Given the description of an element on the screen output the (x, y) to click on. 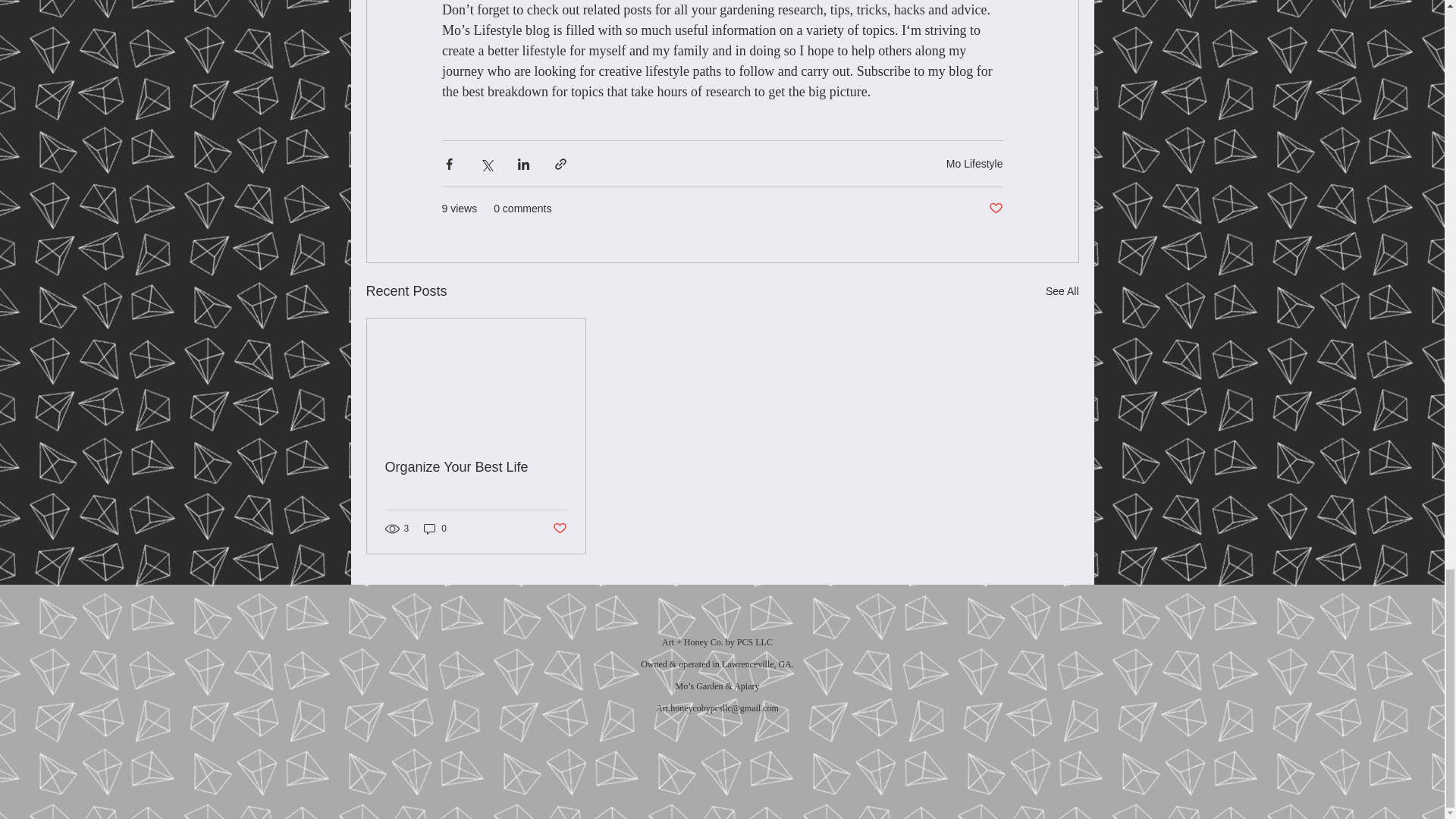
See All (1061, 291)
Mo Lifestyle (974, 163)
Post not marked as liked (995, 208)
0 (435, 528)
Post not marked as liked (558, 528)
Organize Your Best Life (476, 467)
